Given the description of an element on the screen output the (x, y) to click on. 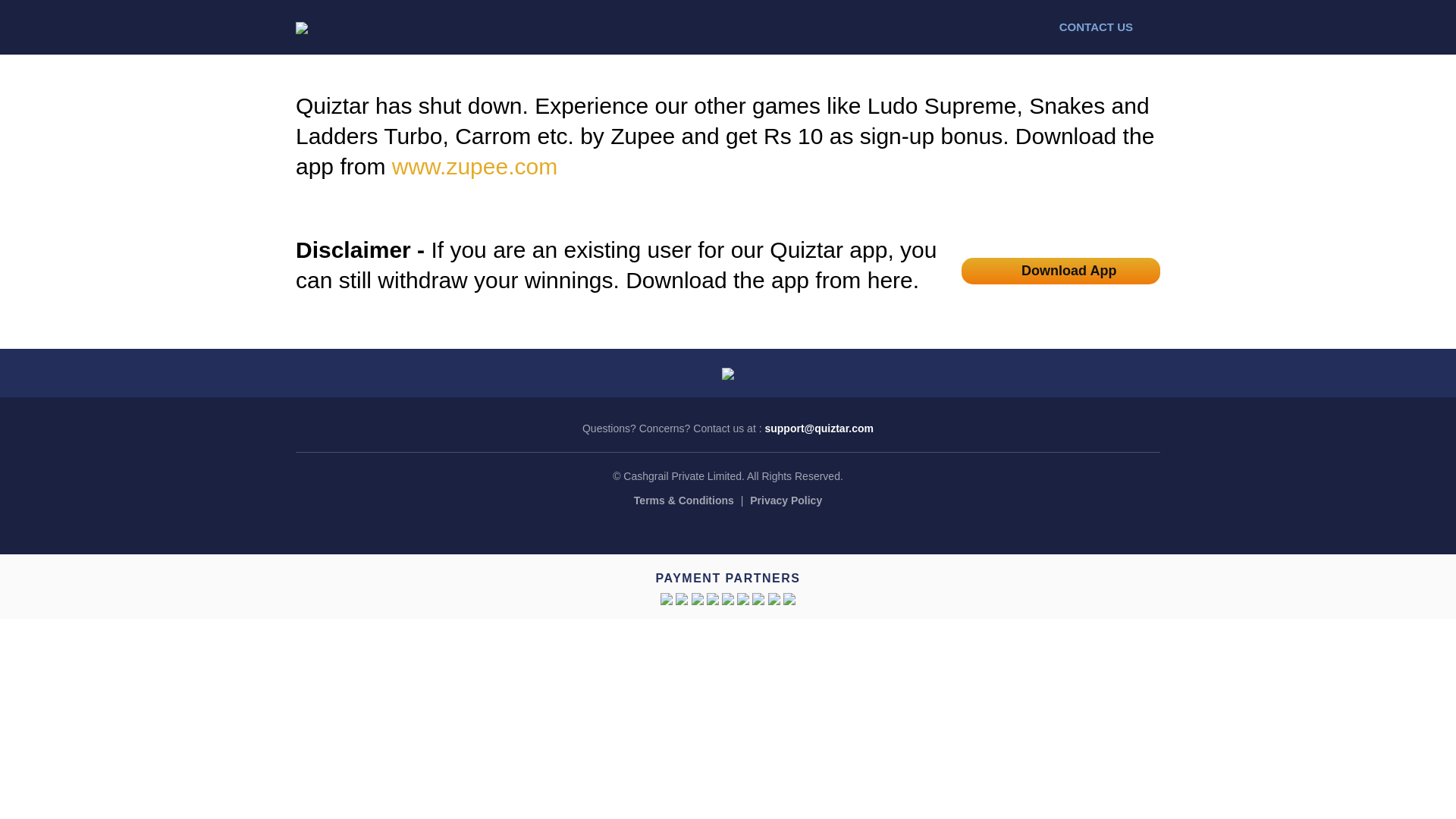
CONTACT US (1109, 27)
www.zupee.com (474, 166)
Privacy Policy (785, 500)
Download App (1061, 270)
